Given the description of an element on the screen output the (x, y) to click on. 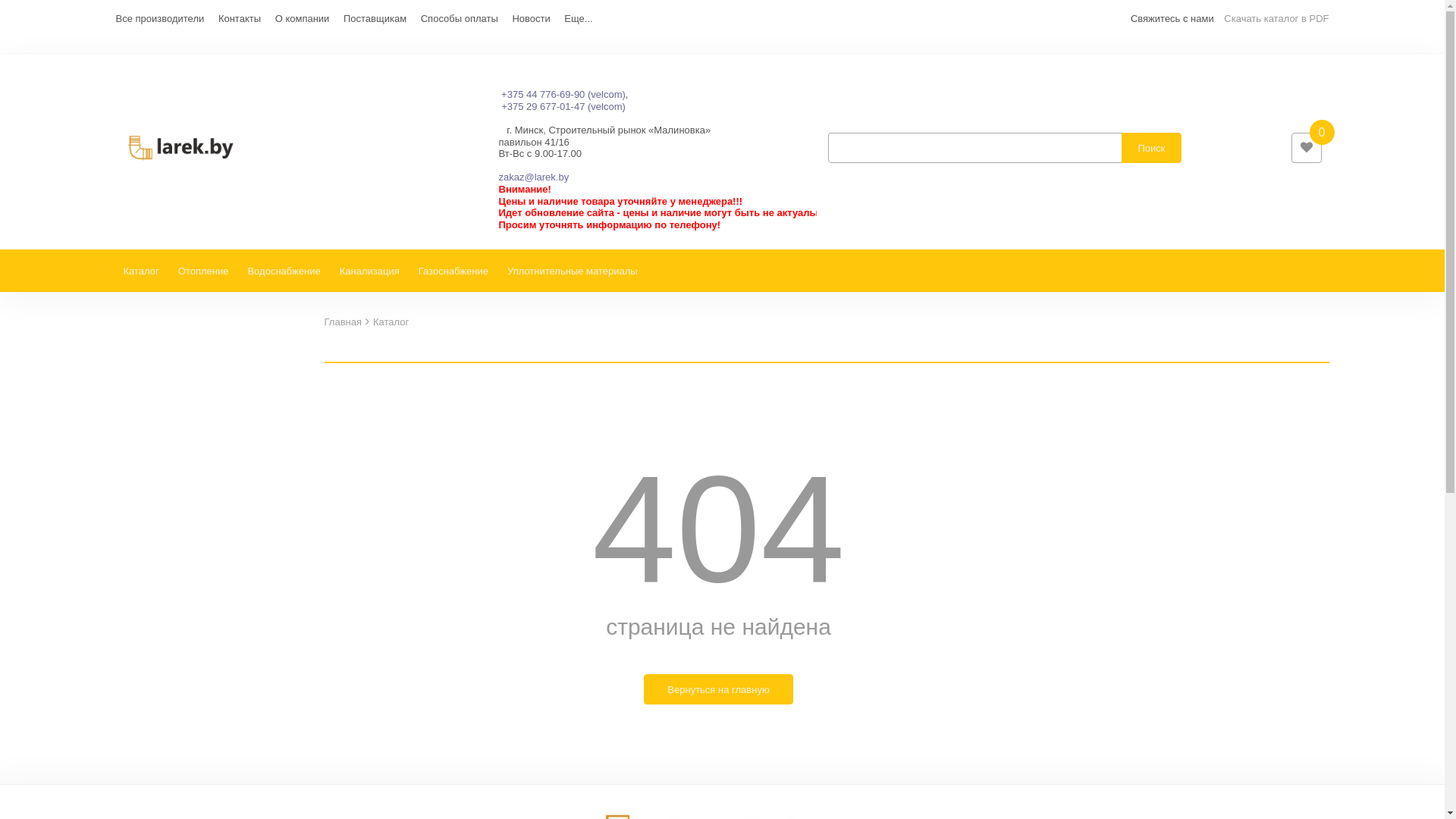
+375 29 677-01-47 (velcom) Element type: text (563, 106)
0 Element type: text (1305, 147)
 +375 44 776-69-90 (velcom) Element type: text (561, 94)
icon.jpg Element type: hover (181, 147)
zakaz@larek.by Element type: text (533, 176)
